Given the description of an element on the screen output the (x, y) to click on. 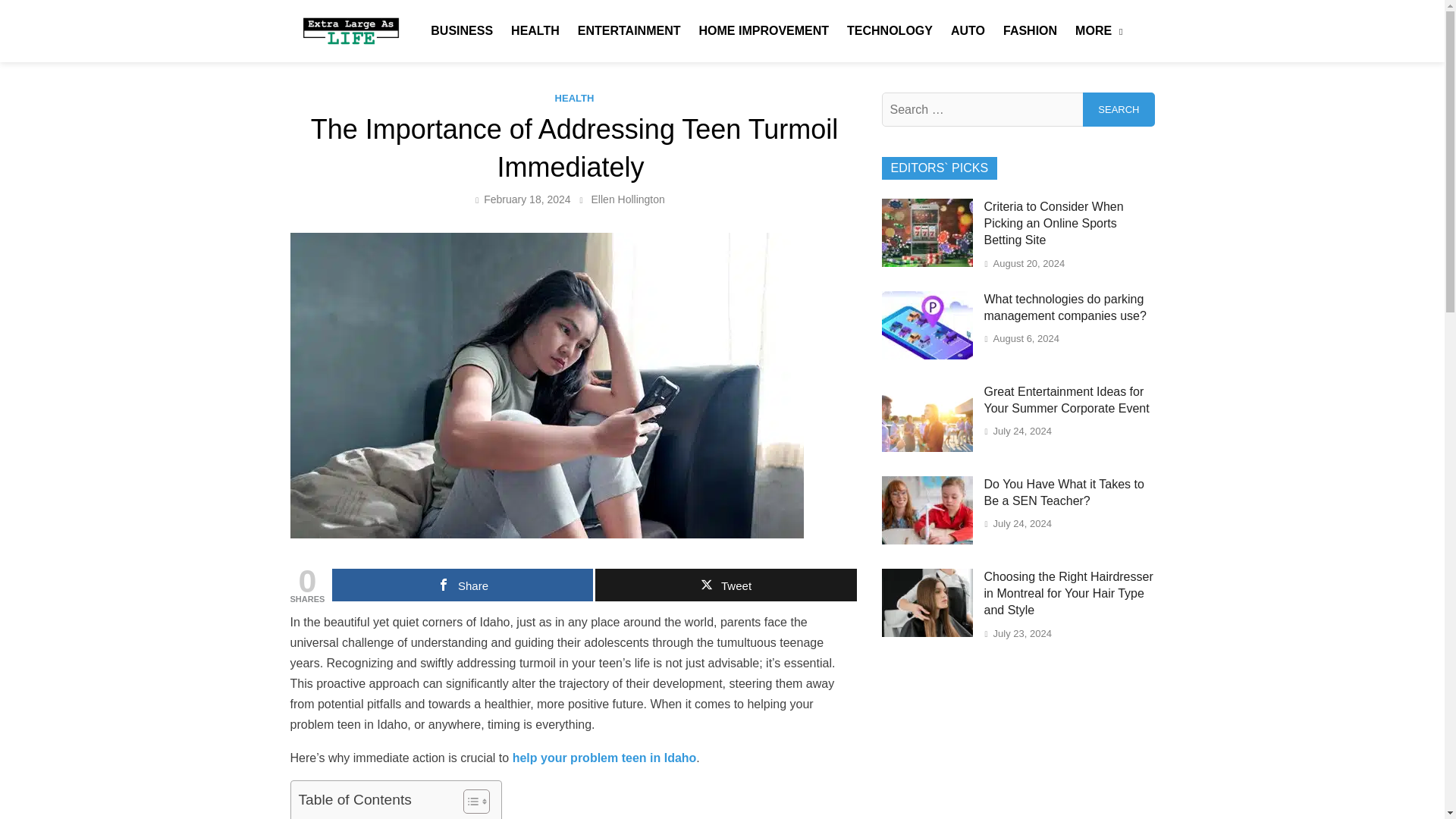
FASHION (1029, 30)
HOME IMPROVEMENT (763, 30)
Share (461, 584)
Preventing escalation  (360, 816)
BUSINESS (462, 30)
Search (1118, 109)
HEALTH (535, 30)
Search (1118, 109)
